Given the description of an element on the screen output the (x, y) to click on. 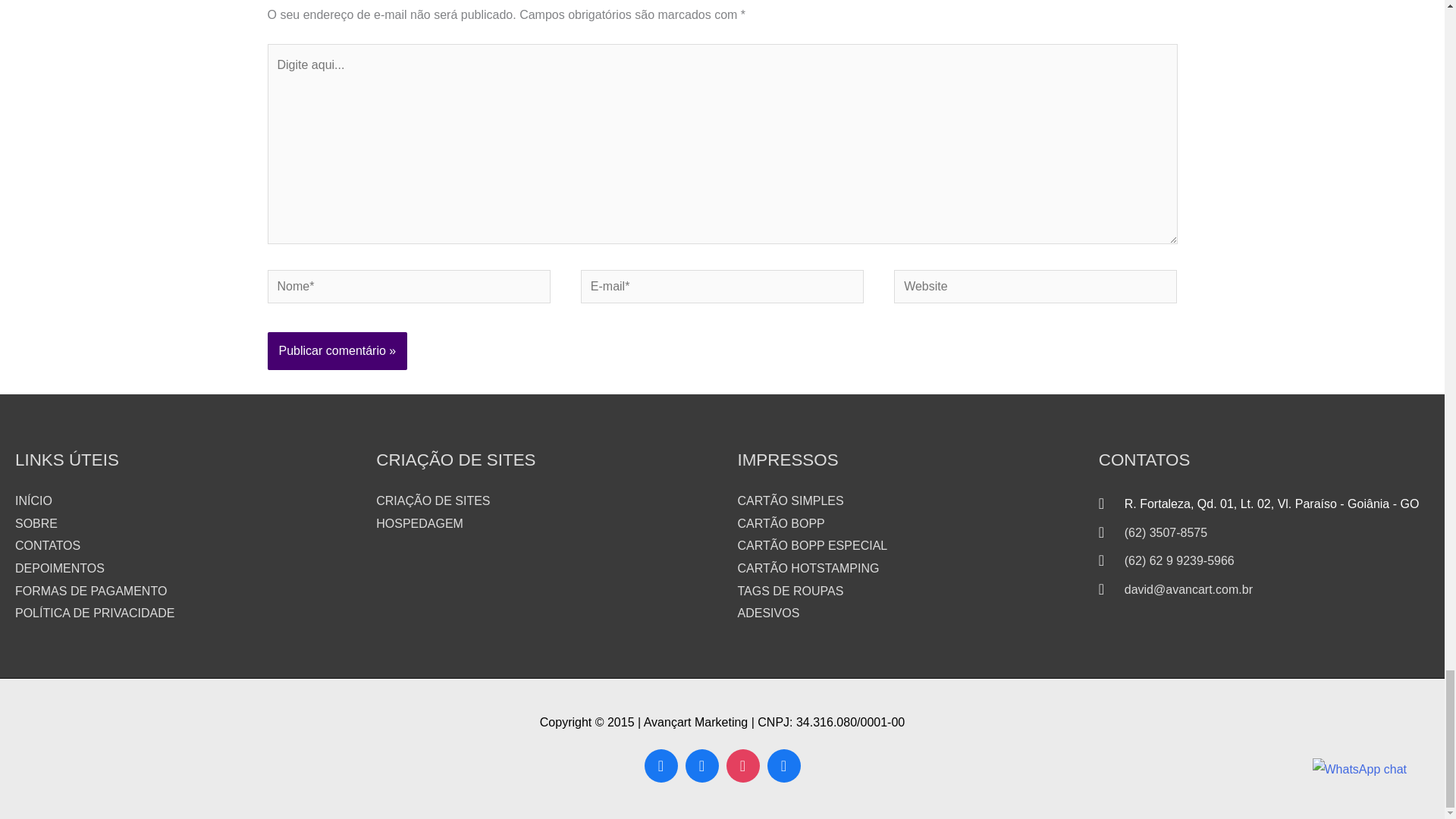
DEPOIMENTOS (59, 567)
FORMAS DE PAGAMENTO (90, 590)
SOBRE (36, 522)
HOSPEDAGEM (419, 522)
CONTATOS (47, 545)
